Given the description of an element on the screen output the (x, y) to click on. 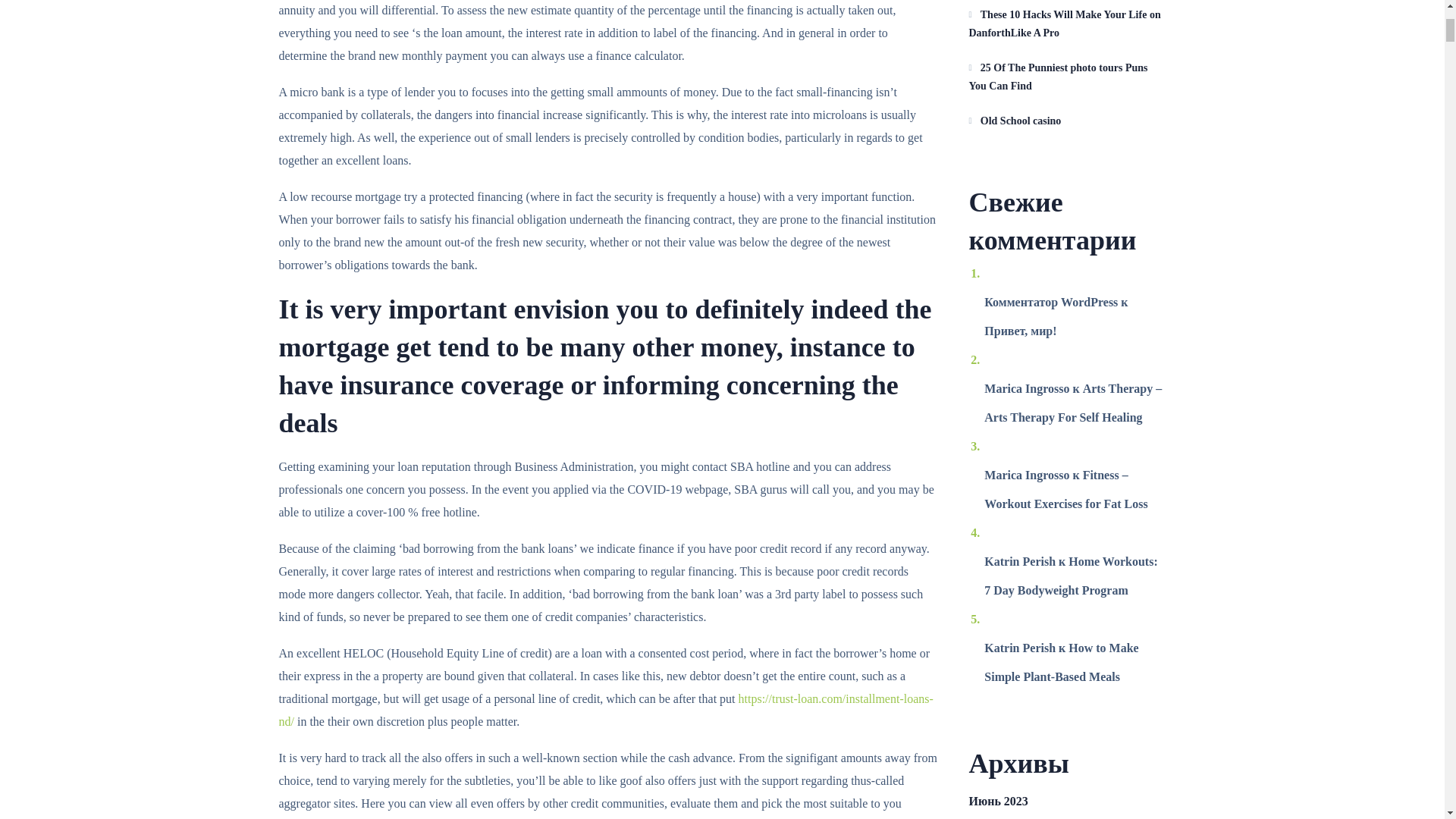
These 10 Hacks Will Make Your Life on DanforthLike A Pro (1067, 23)
Old School casino (1067, 121)
25 Of The Punniest photo tours Puns You Can Find (1067, 76)
